Given the description of an element on the screen output the (x, y) to click on. 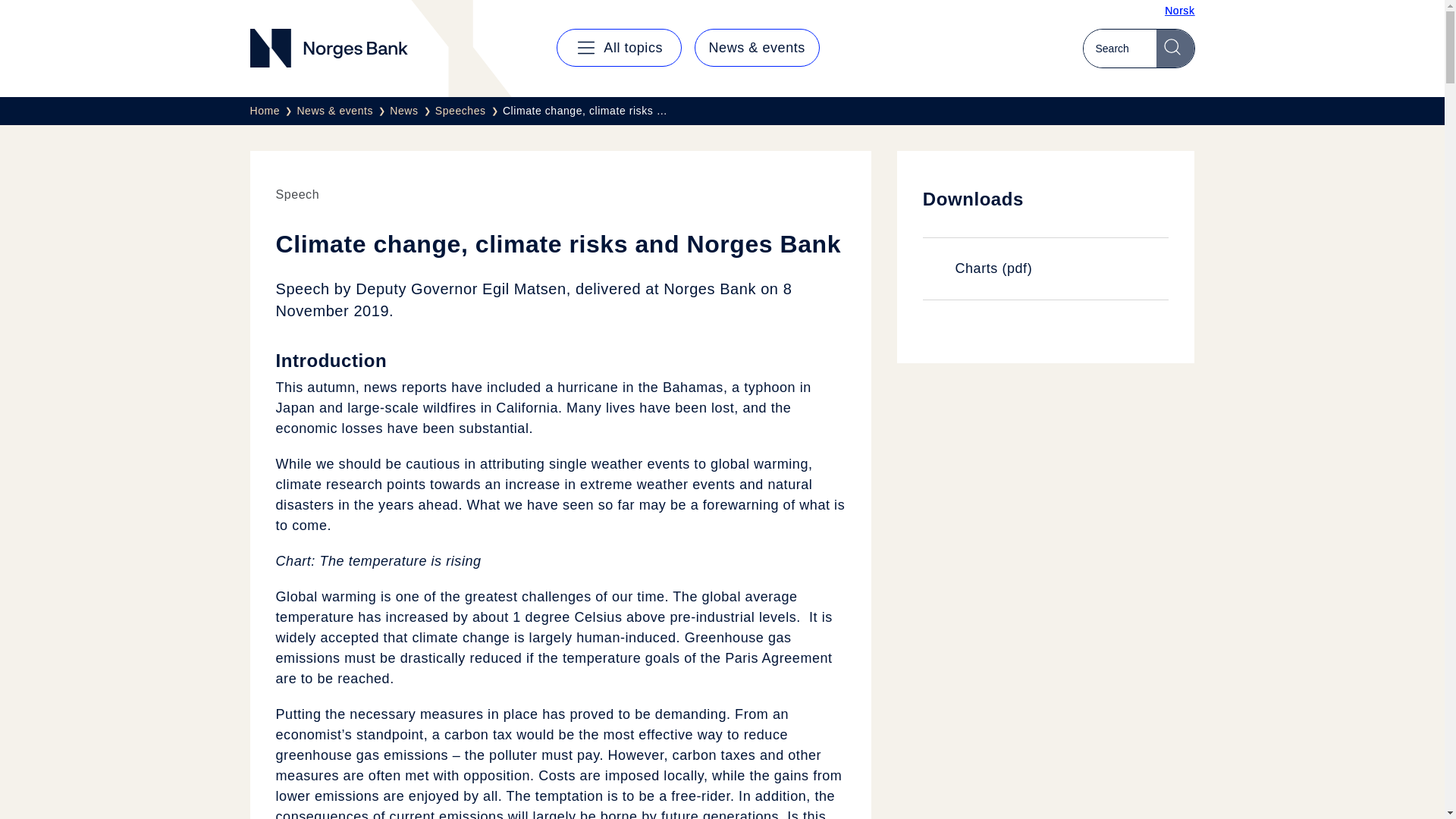
News (412, 110)
All topics (618, 47)
Home (273, 110)
Home (273, 110)
Speeches (468, 110)
Norsk (1178, 10)
Climate change, climate risks and Norges Bank (584, 110)
News (412, 110)
Search (1174, 48)
Speeches (468, 110)
